Given the description of an element on the screen output the (x, y) to click on. 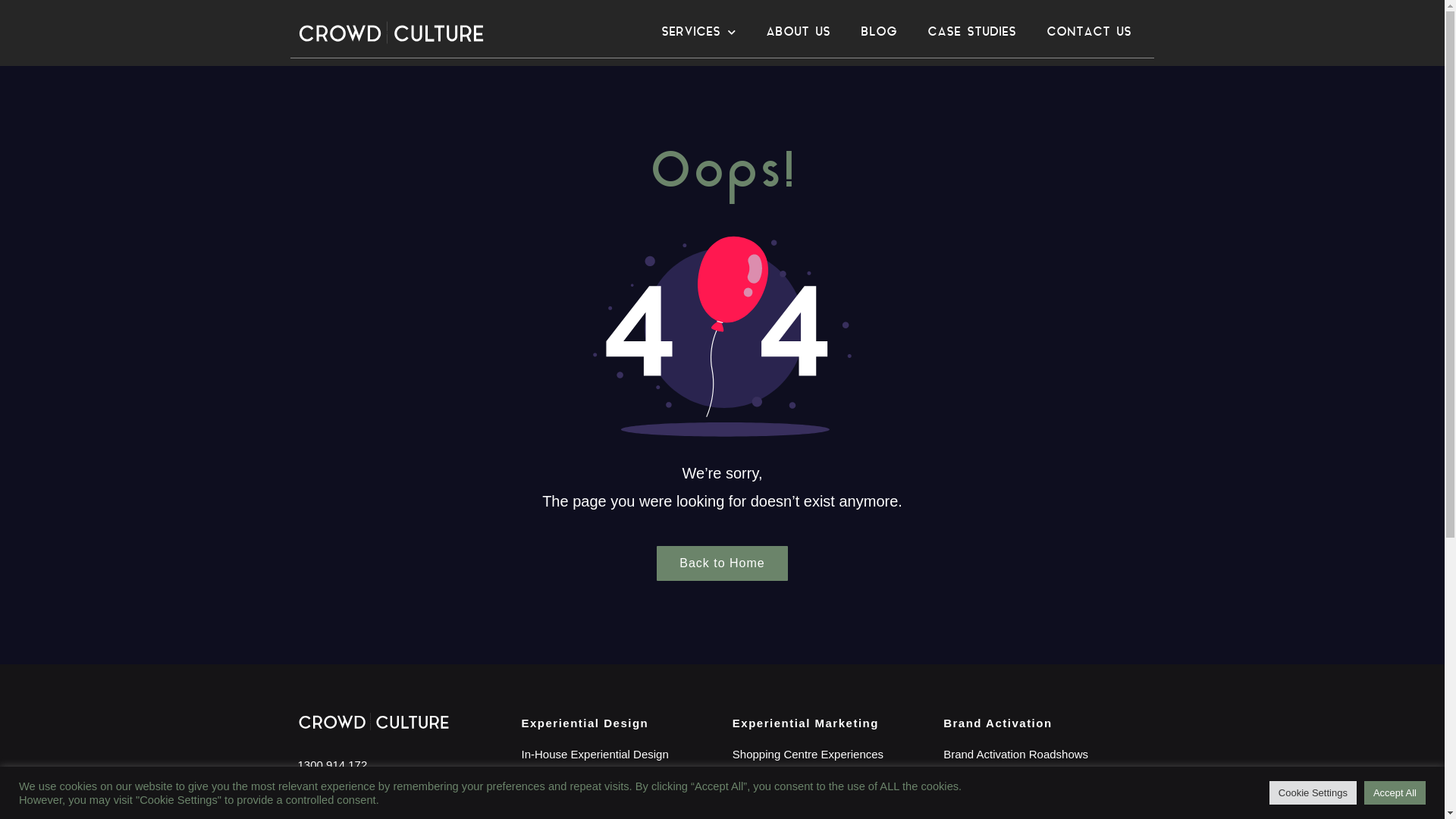
Back to Home Element type: text (721, 563)
BLOG Element type: text (878, 32)
CASE STUDIES Element type: text (971, 32)
Experiential Design Element type: text (585, 722)
Experience First Industrial Design Element type: text (619, 775)
Cookie Settings Element type: text (1312, 792)
Shopping Centre Experiences Element type: text (830, 754)
1300 914 172 Element type: text (397, 764)
ABOUT US Element type: text (797, 32)
Experiential Marketing Element type: text (805, 722)
In-store Experiences Element type: text (830, 775)
Accept All Element type: text (1394, 792)
Brand Activation Element type: text (997, 722)
Brand Activation Roadshows Element type: text (1041, 754)
In-House Experiential Design Element type: text (619, 754)
CONTACT US Element type: text (1088, 32)
Melbourne, Gold Coast Element type: text (397, 797)
Festival and Event Experiences Element type: text (830, 796)
SERVICES Element type: text (698, 32)
